Given the description of an element on the screen output the (x, y) to click on. 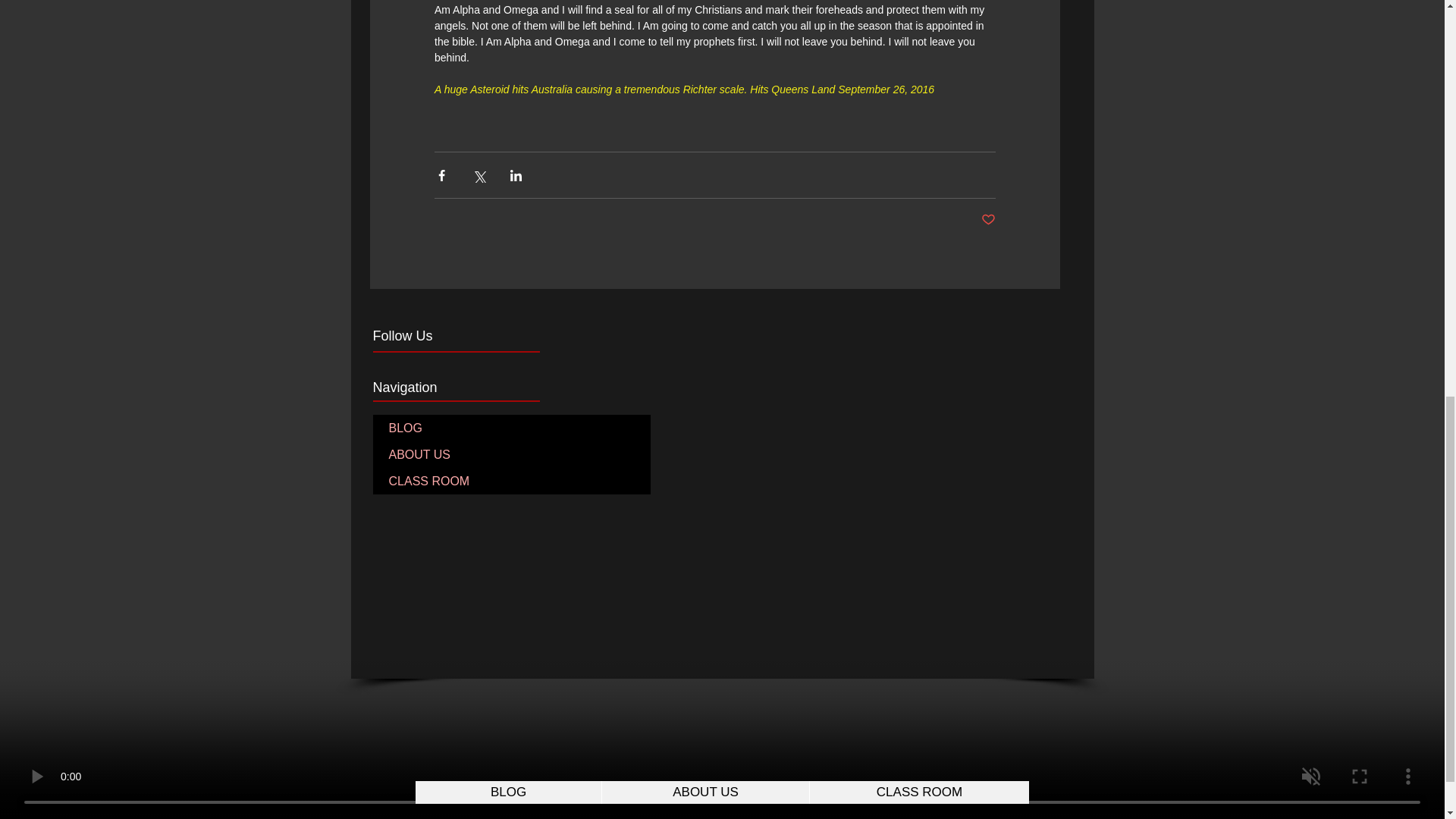
CLASS ROOM (511, 480)
BLOG (511, 427)
Post not marked as liked (988, 220)
ABOUT US (511, 454)
